Given the description of an element on the screen output the (x, y) to click on. 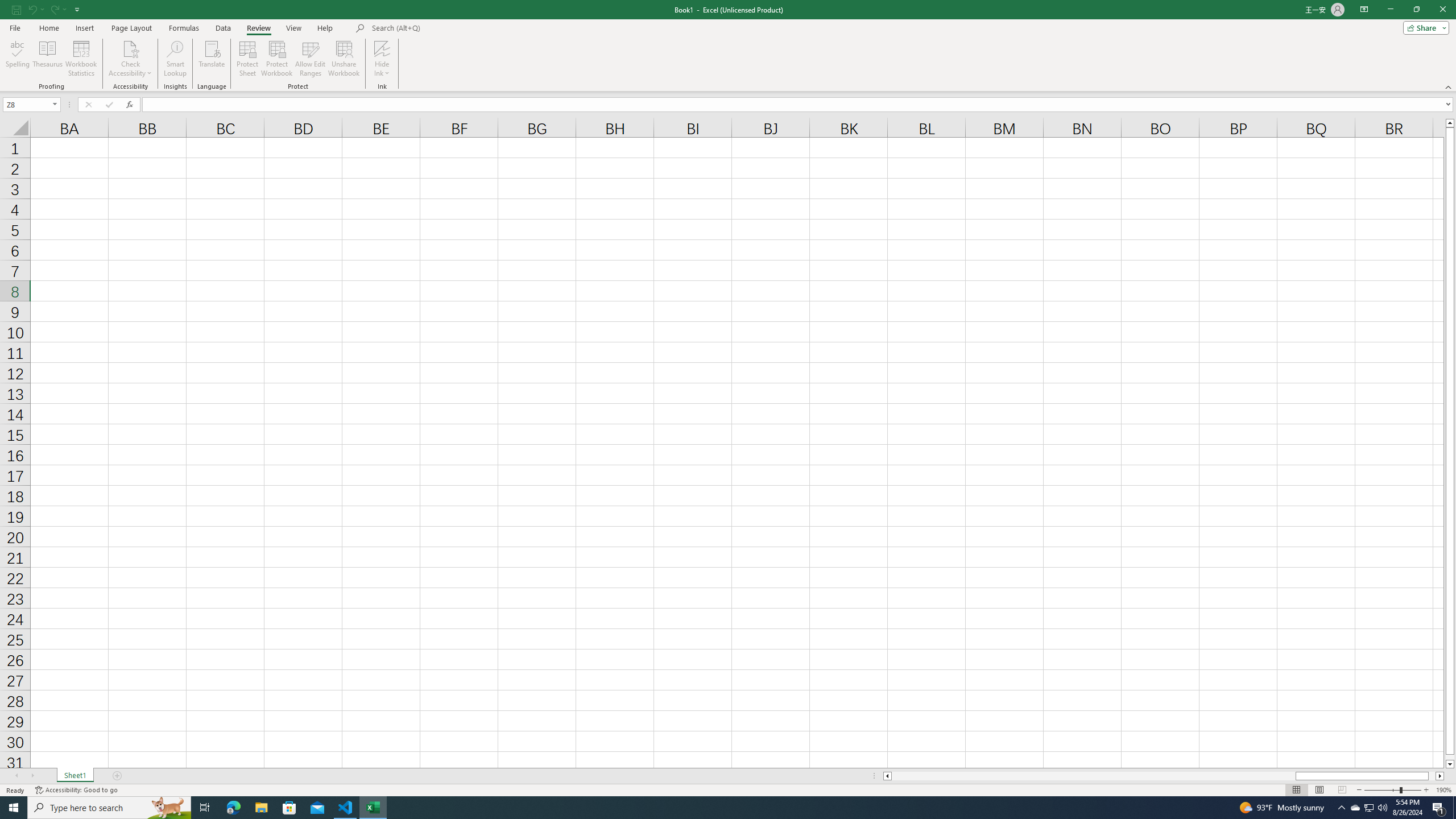
Smart Lookup (175, 58)
Translate (211, 58)
